Given the description of an element on the screen output the (x, y) to click on. 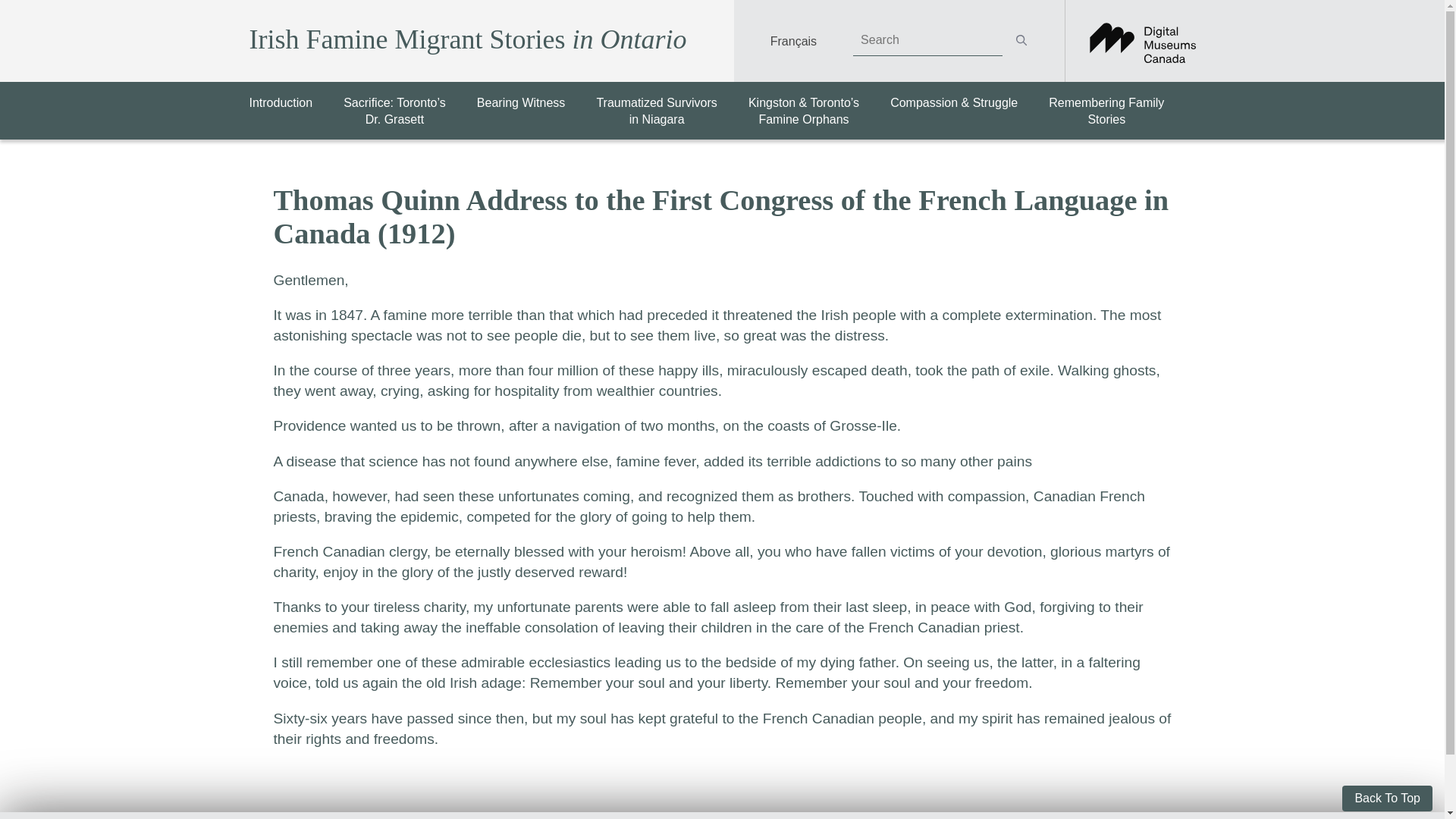
Compassion and Struggle (655, 111)
Introduction (953, 102)
Bearing Witness (280, 102)
Introduction (521, 102)
Irish Famine Migrant Stories in Ontario (280, 102)
Remembering Family Stories (460, 40)
Bearing Witness (1105, 111)
Traumatized Survivors in Niagara (1105, 111)
Back To Top (521, 102)
Link to Digital Museums Canada (655, 111)
Home (1387, 798)
